Given the description of an element on the screen output the (x, y) to click on. 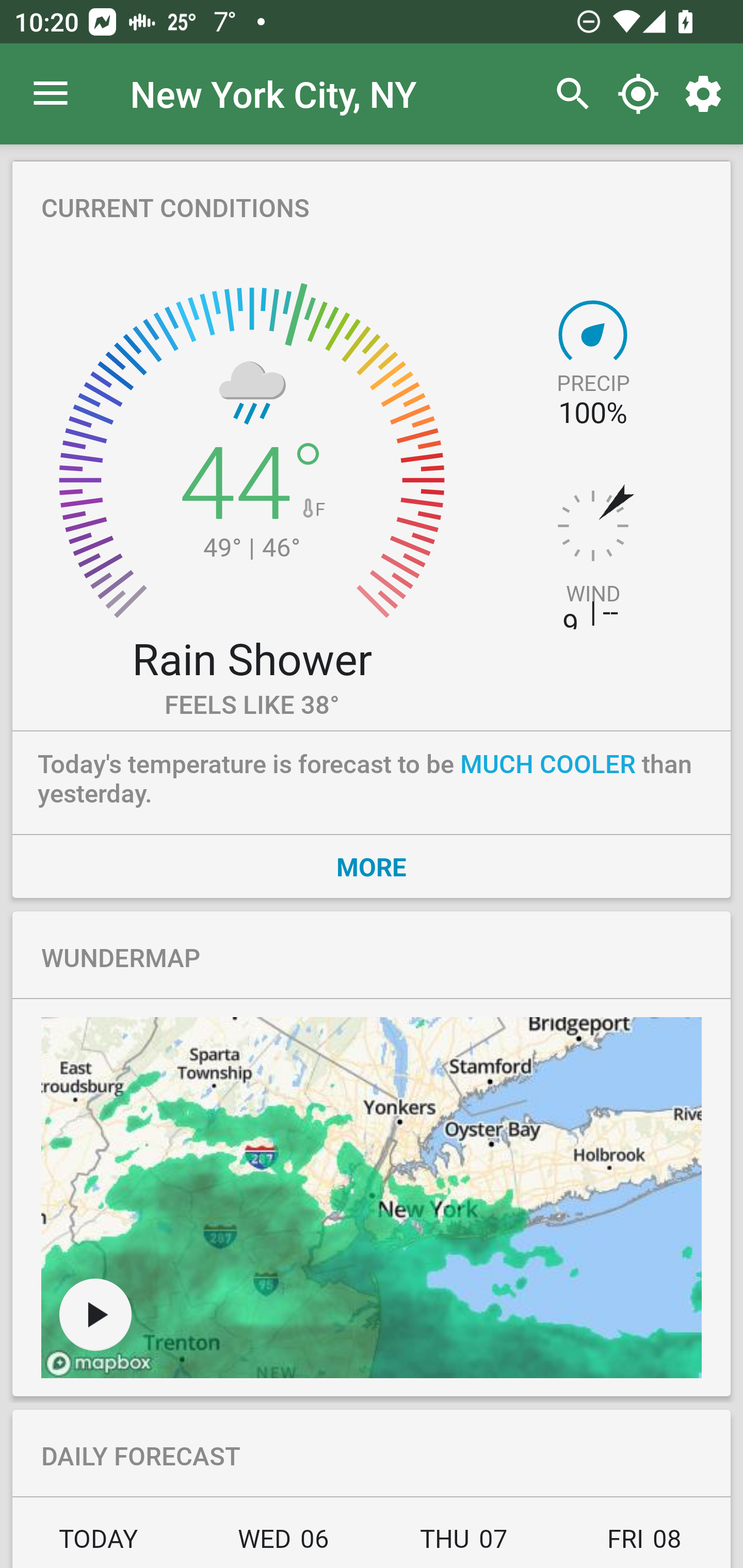
Press to open location manager. (50, 93)
Search for location (567, 94)
Select GPS location (637, 94)
Settings (706, 94)
New York City, NY (273, 92)
100% (592, 412)
Rain Shower (251, 657)
MORE (371, 865)
Weather Map (371, 1197)
Weather Map (95, 1314)
TODAY (102, 1544)
WED 06 (283, 1544)
THU 07 (463, 1544)
FRI 08 (642, 1544)
